Given the description of an element on the screen output the (x, y) to click on. 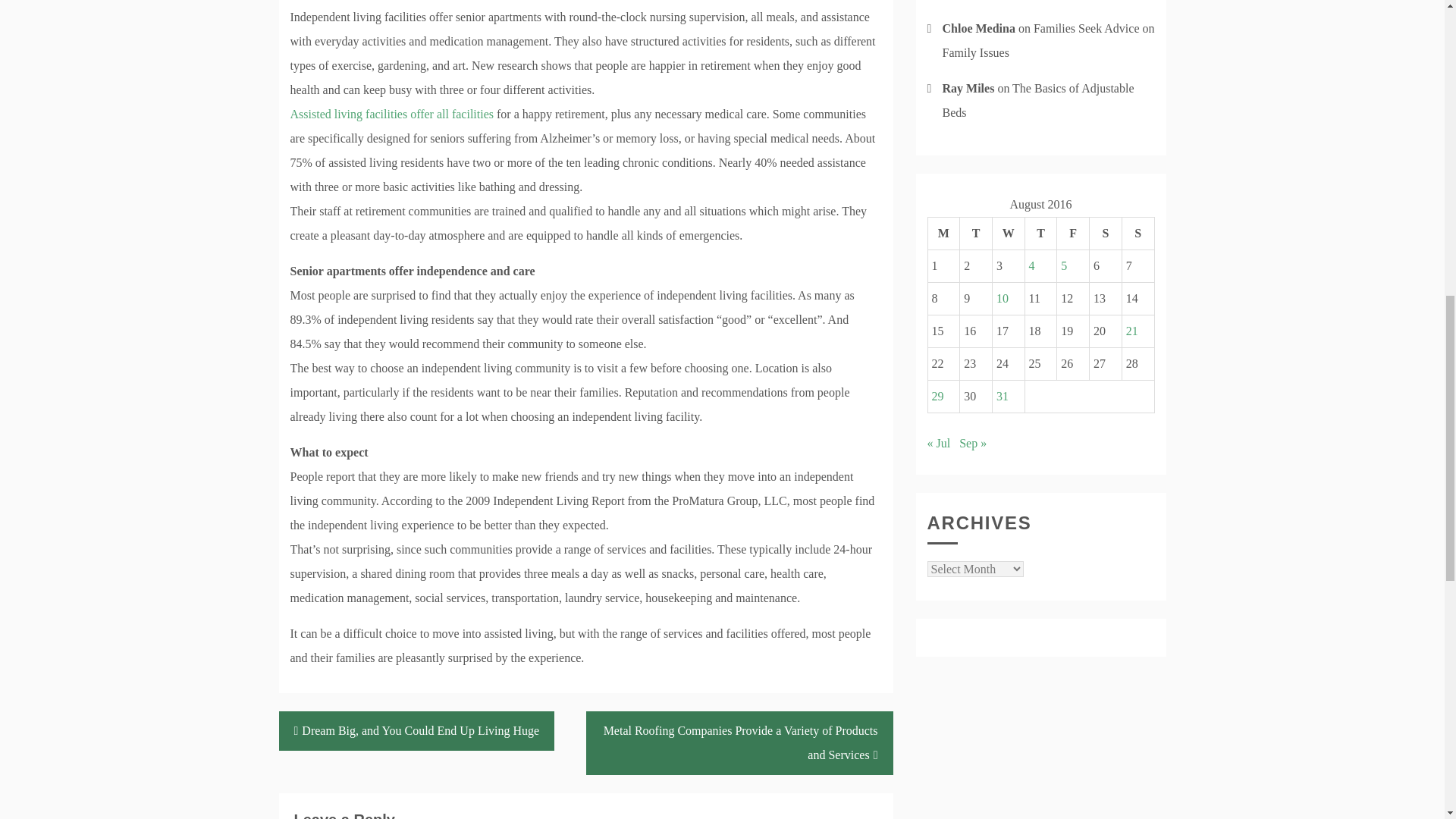
Sunday (1137, 233)
Friday (1073, 233)
31 (1002, 395)
Tuesday (975, 233)
29 (937, 395)
The Basics of Adjustable Beds (1038, 99)
The things I like (391, 113)
Assisted living facilities offer all facilities (391, 113)
10 (1002, 297)
Monday (943, 233)
Wednesday (1008, 233)
Families Seek Advice on Family Issues (1048, 40)
Saturday (1105, 233)
Thursday (1041, 233)
